Given the description of an element on the screen output the (x, y) to click on. 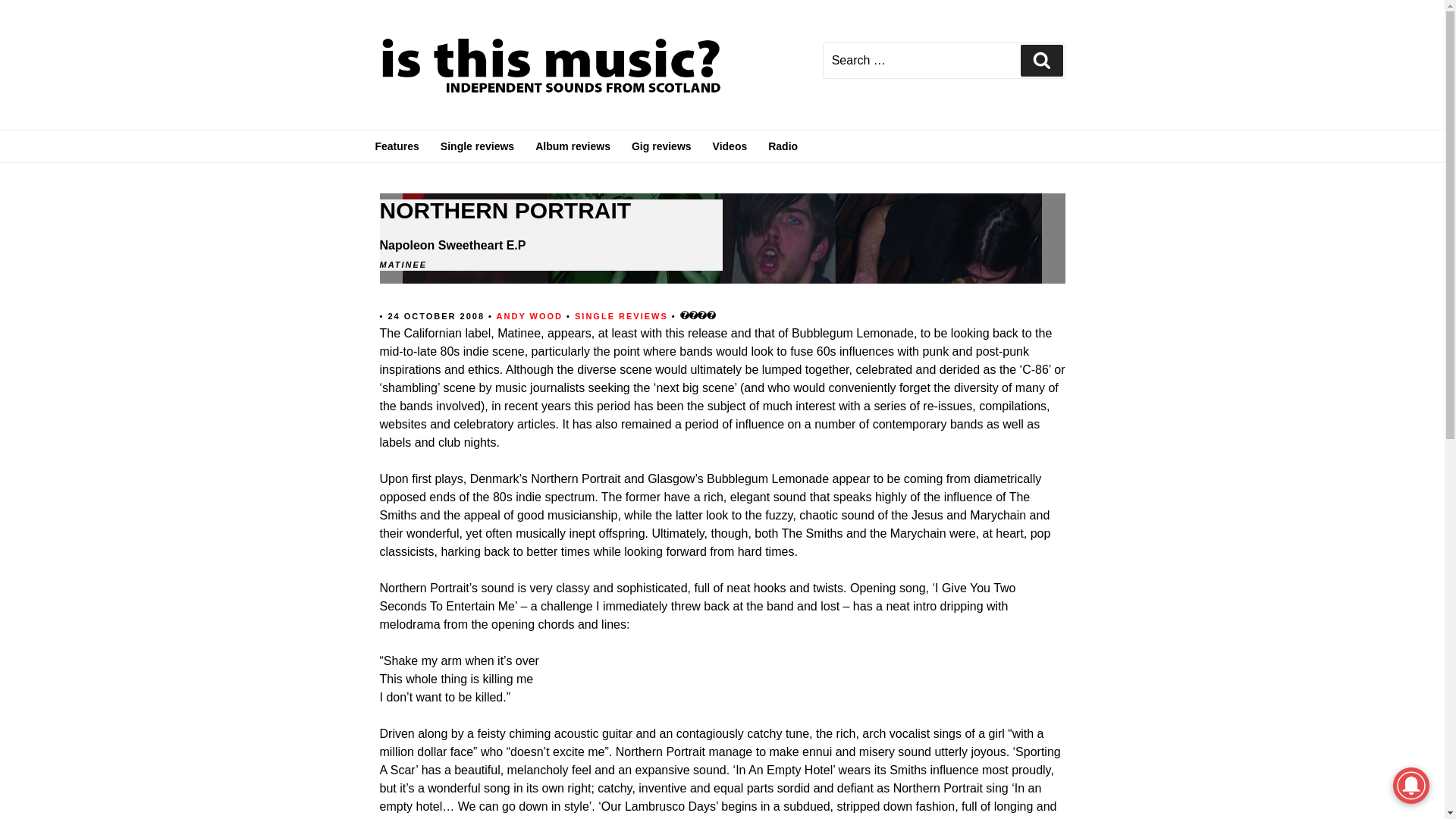
Posts by Andy Wood (529, 315)
Search (1041, 60)
Features (396, 145)
Radio (782, 145)
Gig reviews (661, 145)
SINGLE REVIEWS (623, 315)
Videos (729, 145)
ANDY WOOD (529, 315)
Single reviews (476, 145)
Album reviews (572, 145)
